Given the description of an element on the screen output the (x, y) to click on. 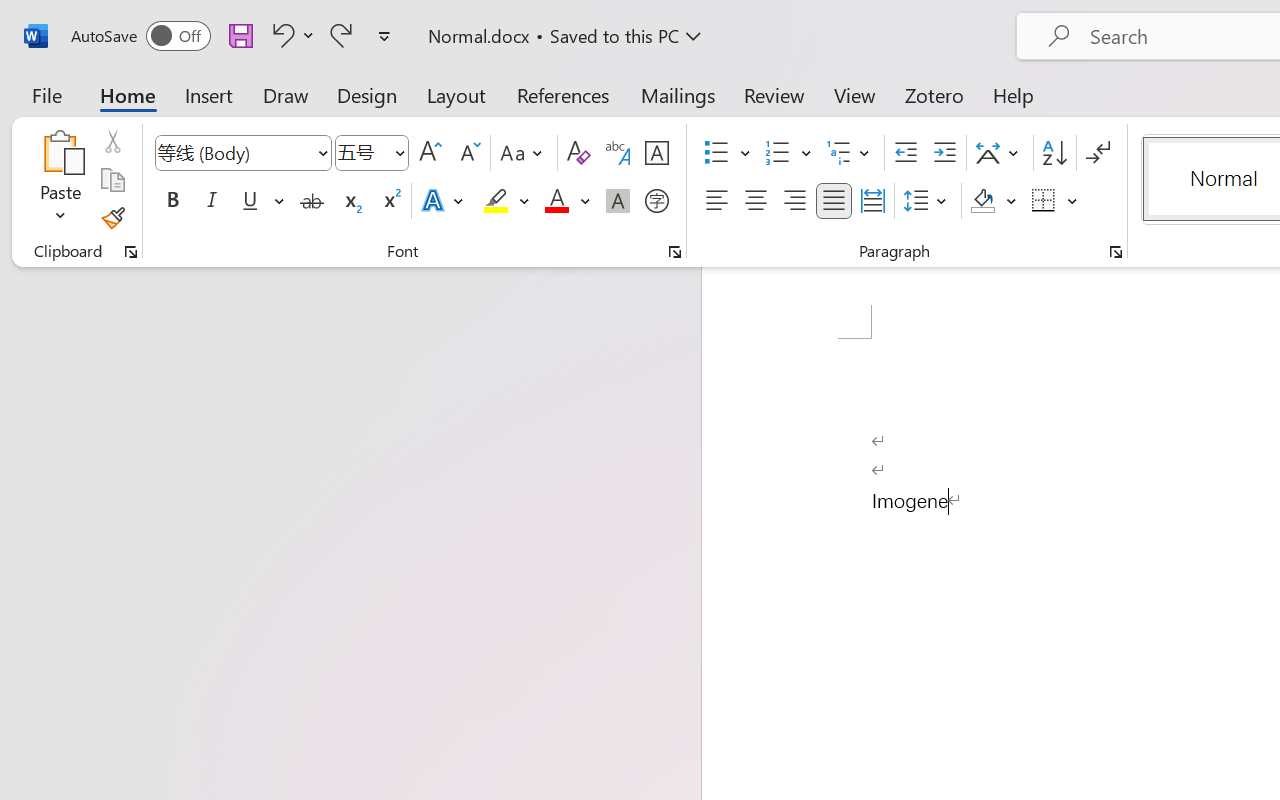
Font Color RGB(255, 0, 0) (556, 201)
Grow Font (430, 153)
Distributed (872, 201)
Center (756, 201)
Bold (172, 201)
Justify (834, 201)
Increase Indent (944, 153)
Character Border (656, 153)
